Given the description of an element on the screen output the (x, y) to click on. 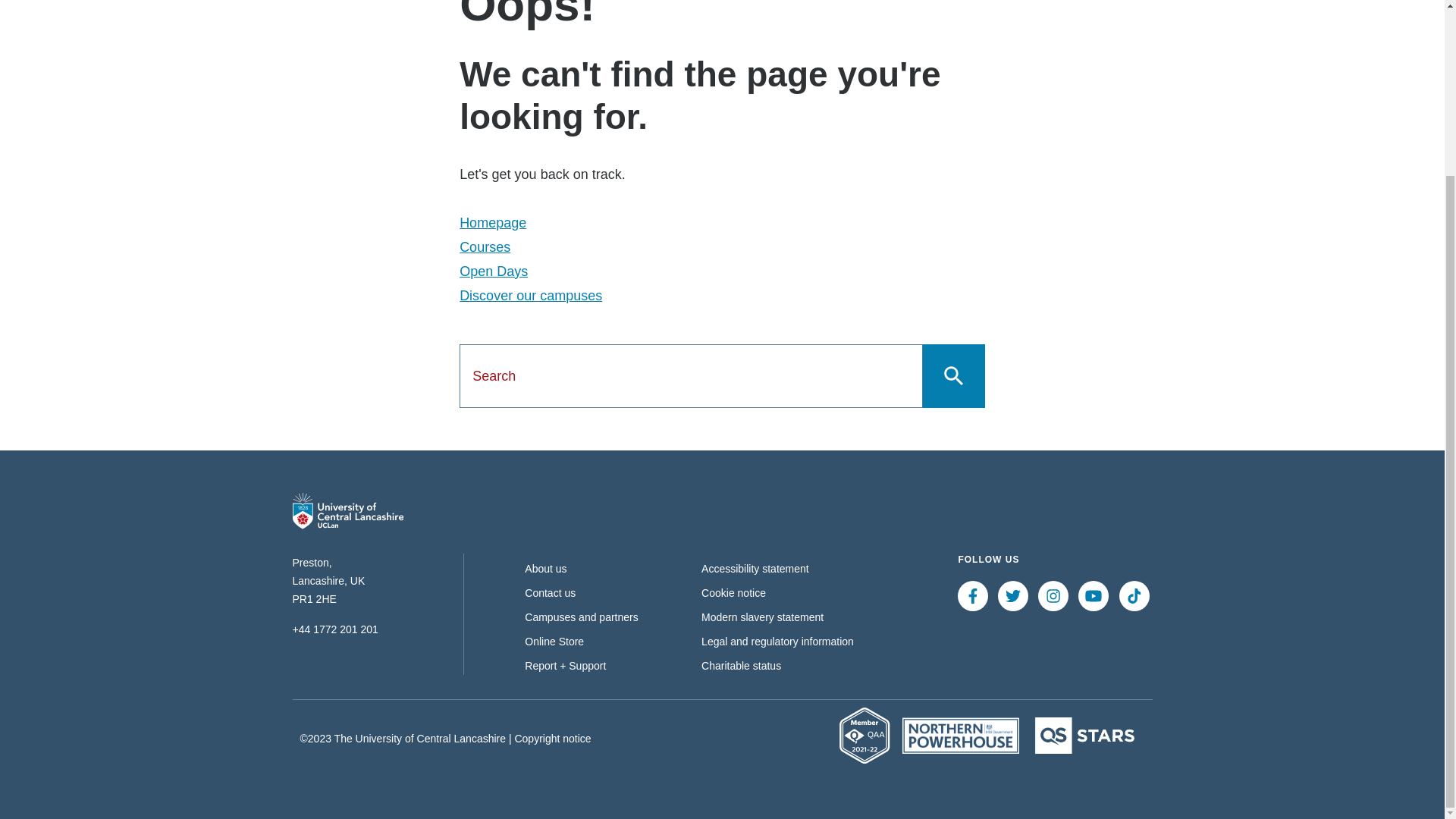
Campuses and partners (580, 616)
Courses (485, 246)
About us (545, 568)
Modern slavery statement (762, 616)
Charitable status (740, 665)
Homepage (492, 222)
Open Days (493, 271)
Online Store (553, 641)
Copyright notice (552, 737)
Cookie notice (733, 592)
Legal and regulatory information (777, 641)
Discover our campuses (531, 295)
Contact us (549, 592)
Accessibility statement (755, 568)
